Given the description of an element on the screen output the (x, y) to click on. 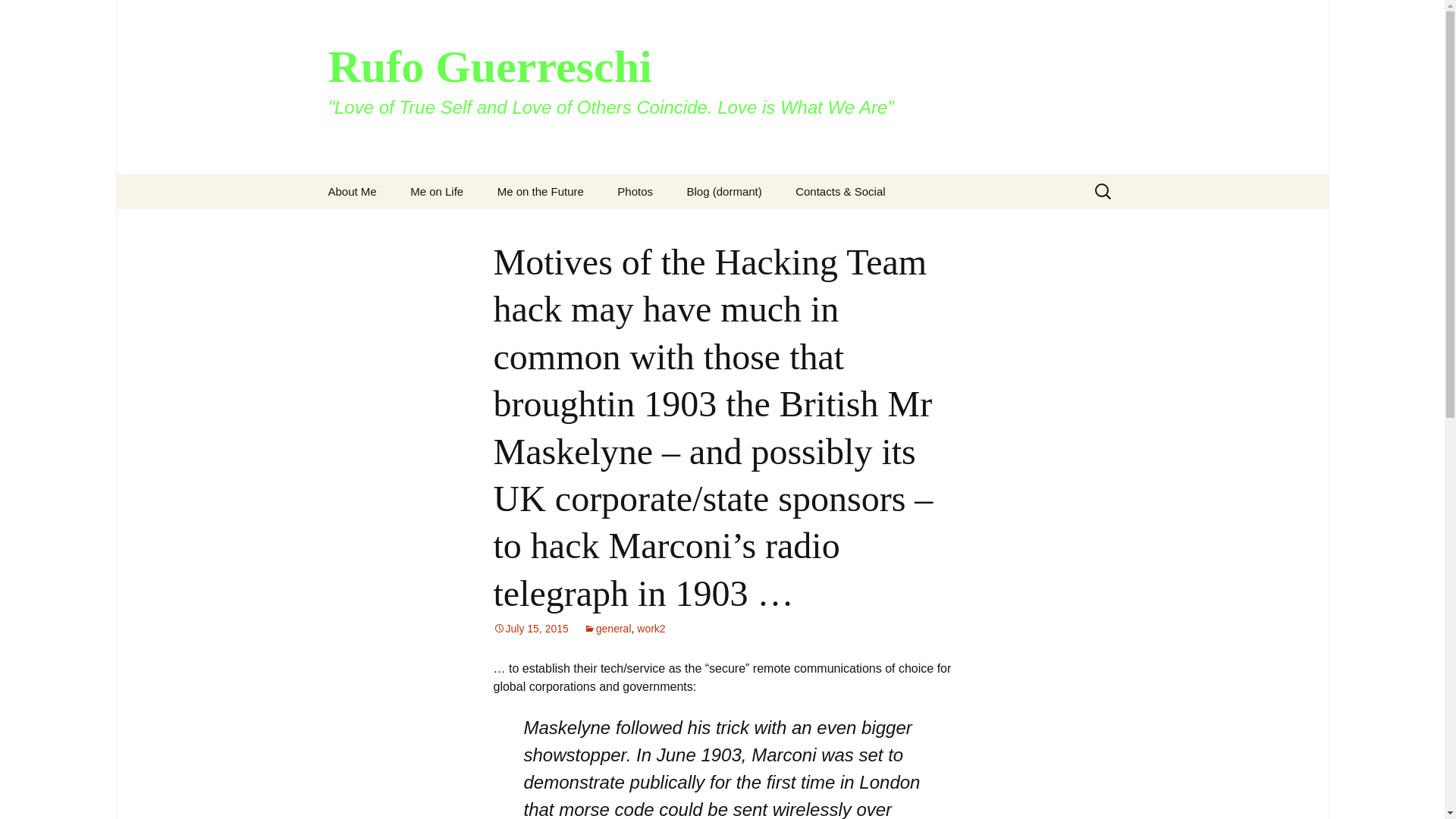
Me on Life (436, 191)
Photos (635, 191)
About Me (352, 191)
Search (18, 15)
Me on the Future (539, 191)
July 15, 2015 (530, 628)
work2 (651, 628)
general (607, 628)
